Given the description of an element on the screen output the (x, y) to click on. 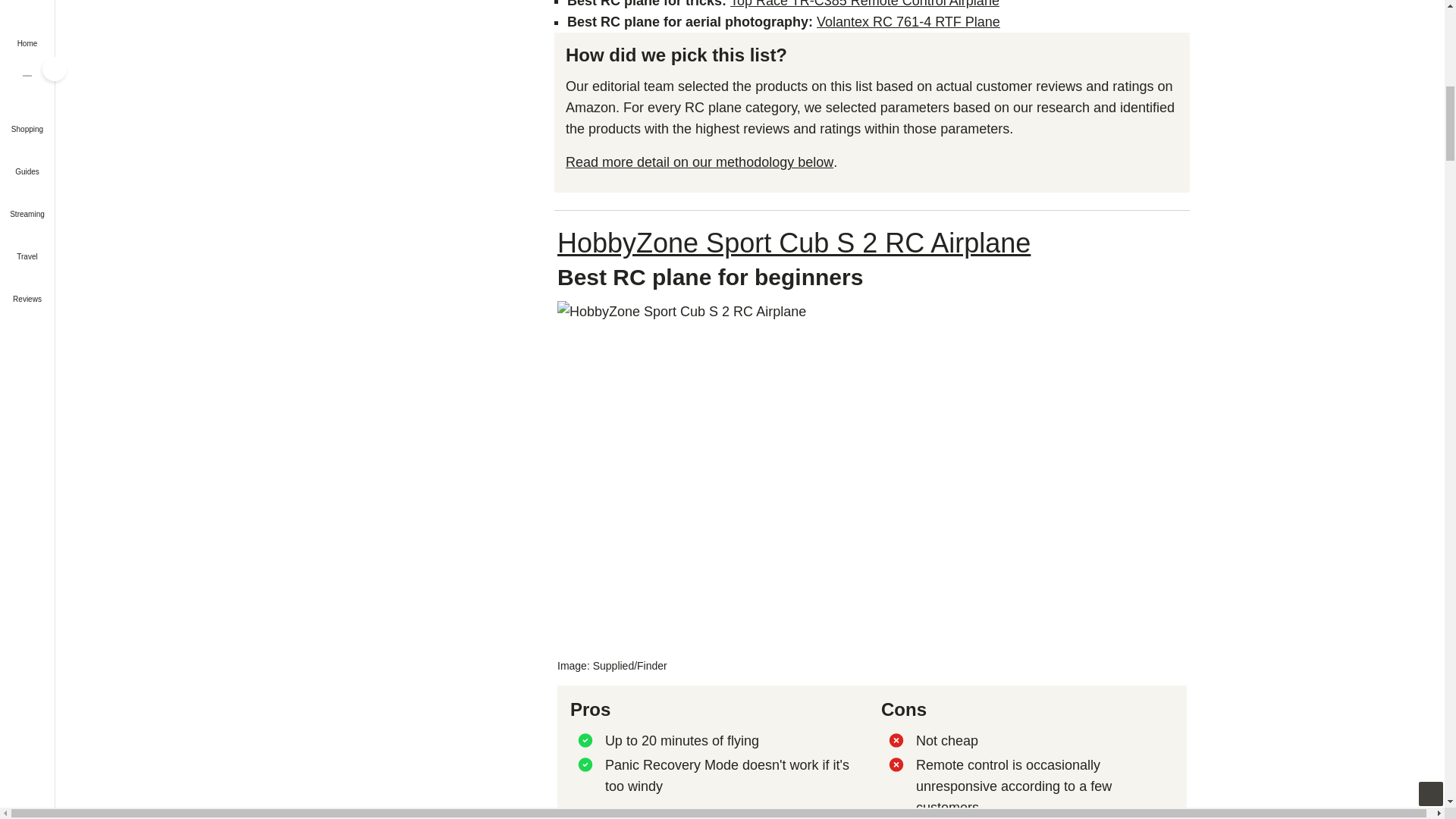
Read more detail on our methodology below (699, 161)
Volantex RC 761-4 RTF Plane (908, 21)
Top Race TR-C385 Remote Control Airplane (864, 4)
